Given the description of an element on the screen output the (x, y) to click on. 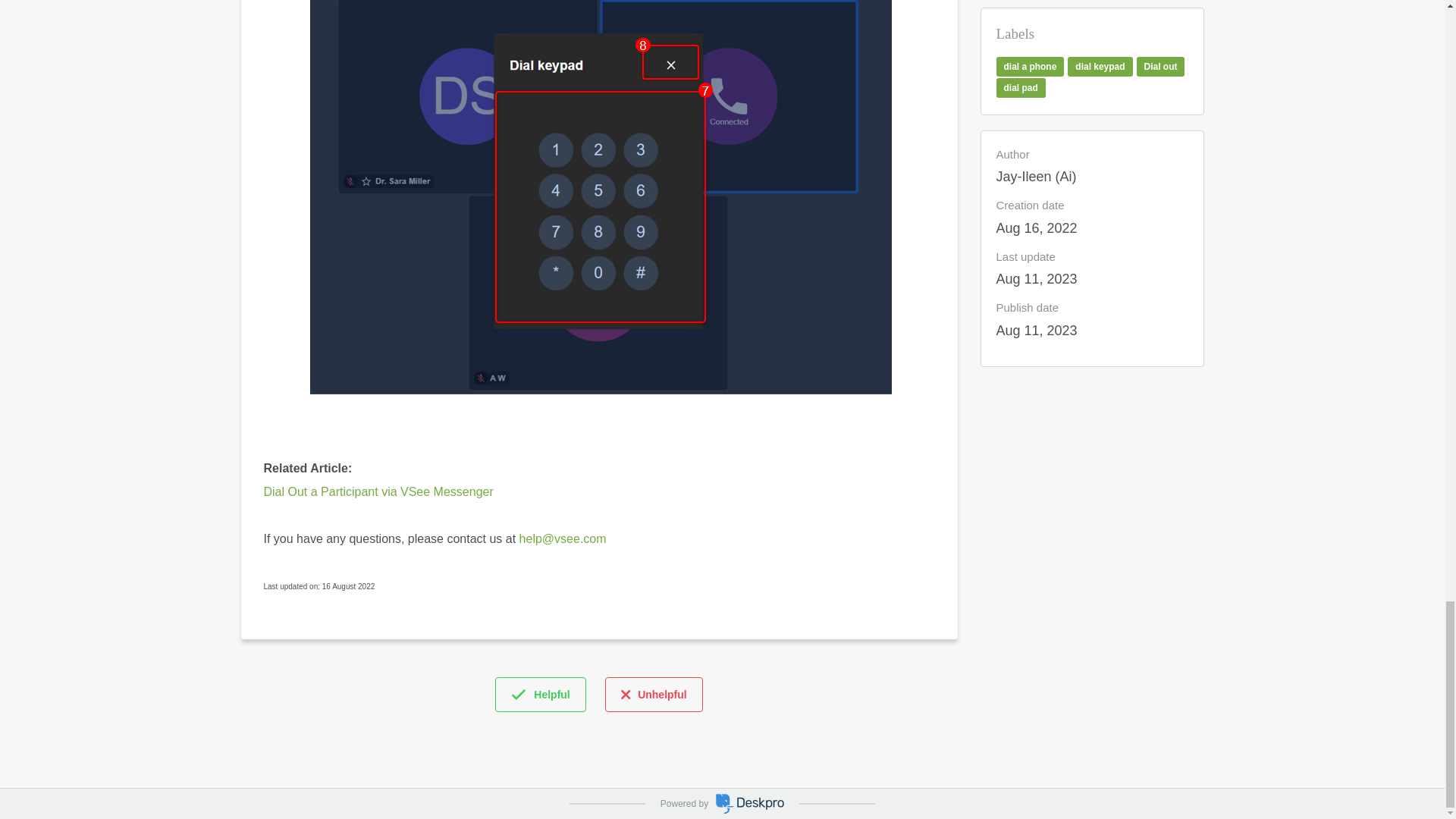
Helpful (540, 694)
Dial Out a Participant via VSee Messenger (378, 491)
Unhelpful (654, 694)
